Given the description of an element on the screen output the (x, y) to click on. 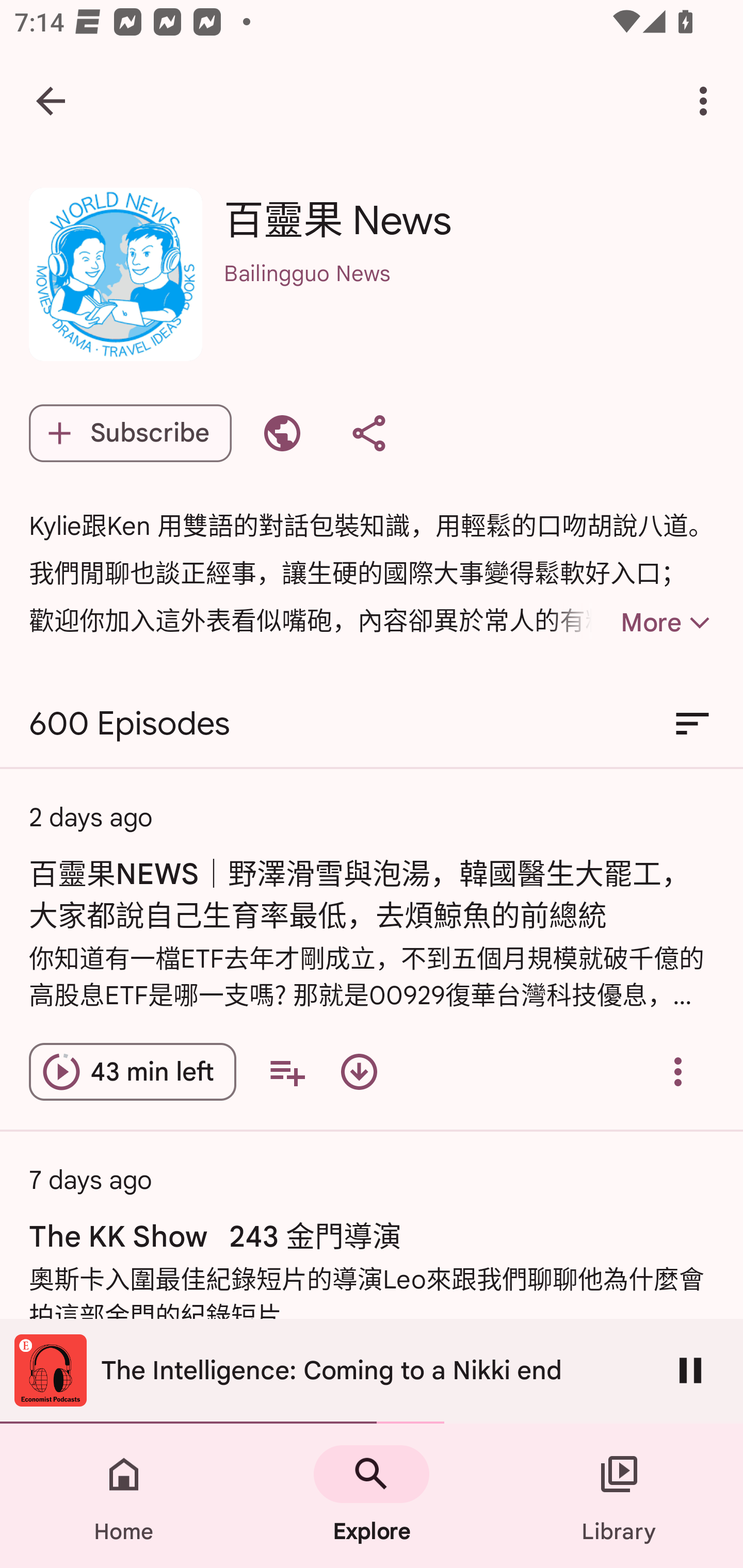
Navigate up (50, 101)
More options (706, 101)
Bailingguo News (468, 300)
Subscribe (129, 433)
Visit website (282, 433)
Share (368, 433)
More (631, 622)
Sort (692, 723)
Add to your queue (287, 1071)
Download episode (359, 1071)
Overflow menu (677, 1071)
Pause (690, 1370)
Home (123, 1495)
Library (619, 1495)
